Given the description of an element on the screen output the (x, y) to click on. 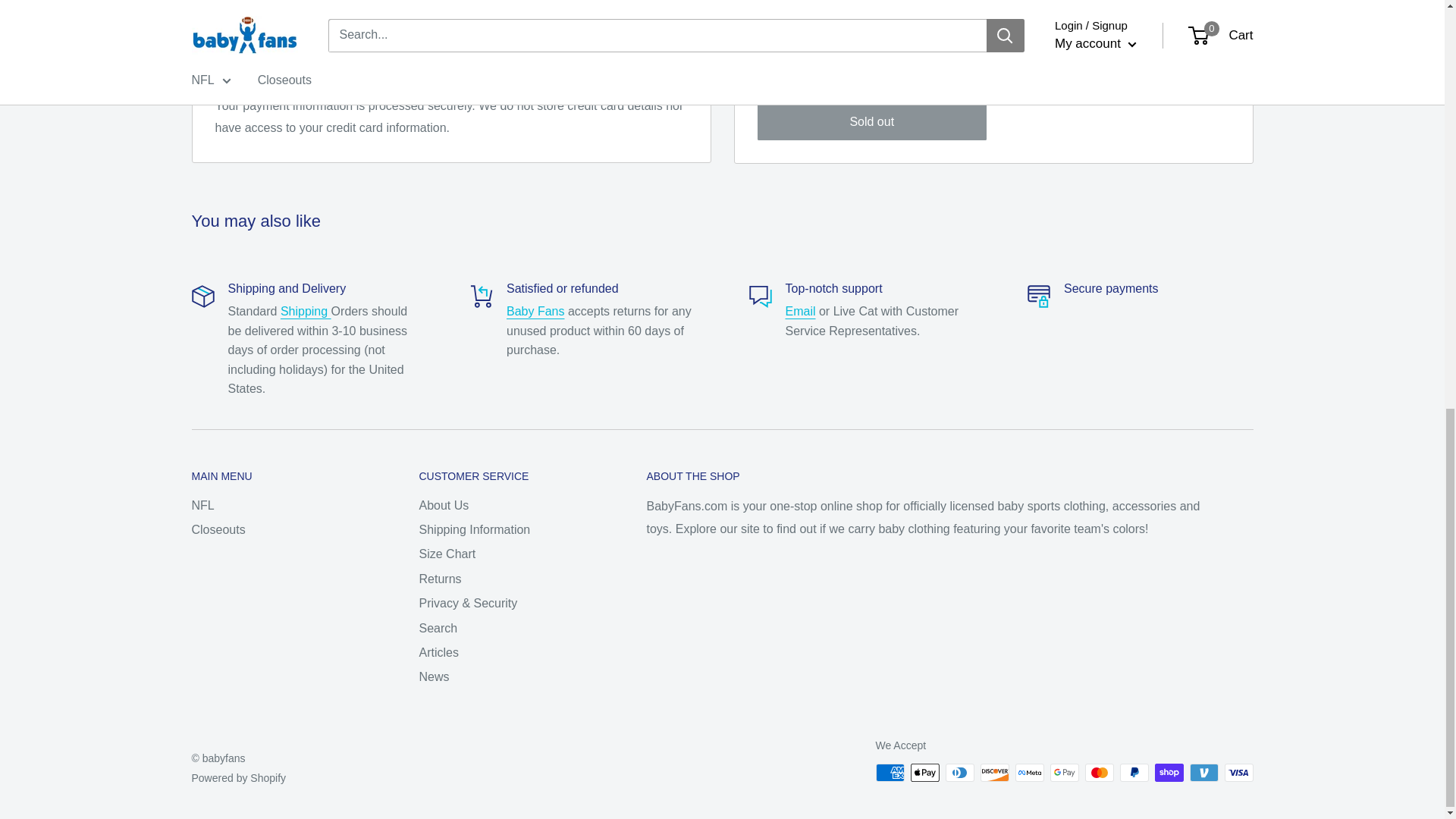
Contact Us (800, 310)
Returns (535, 310)
Shipping Policy (306, 310)
